Given the description of an element on the screen output the (x, y) to click on. 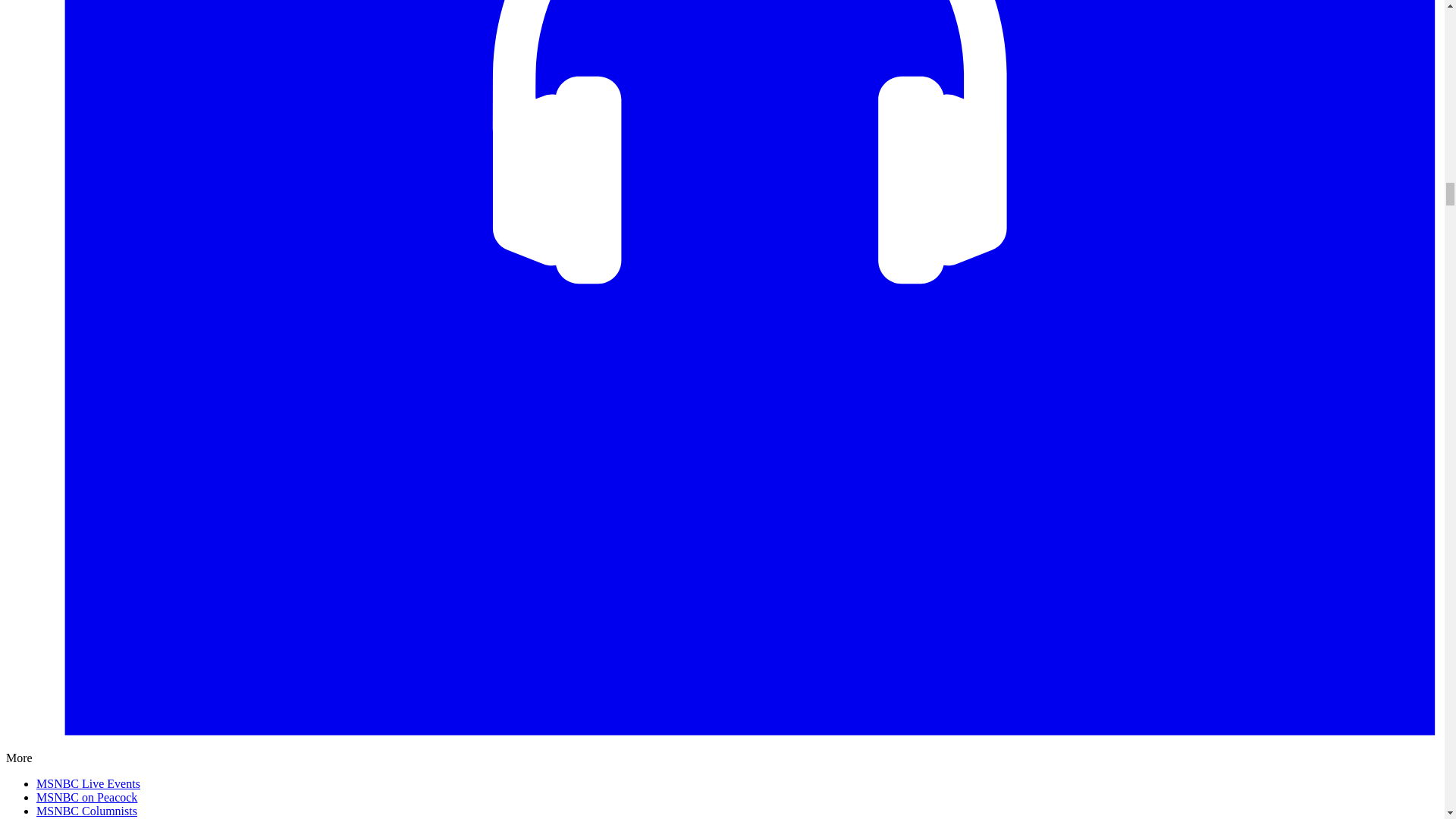
MSNBC on Peacock (86, 797)
MSNBC Live Events (87, 783)
